Given the description of an element on the screen output the (x, y) to click on. 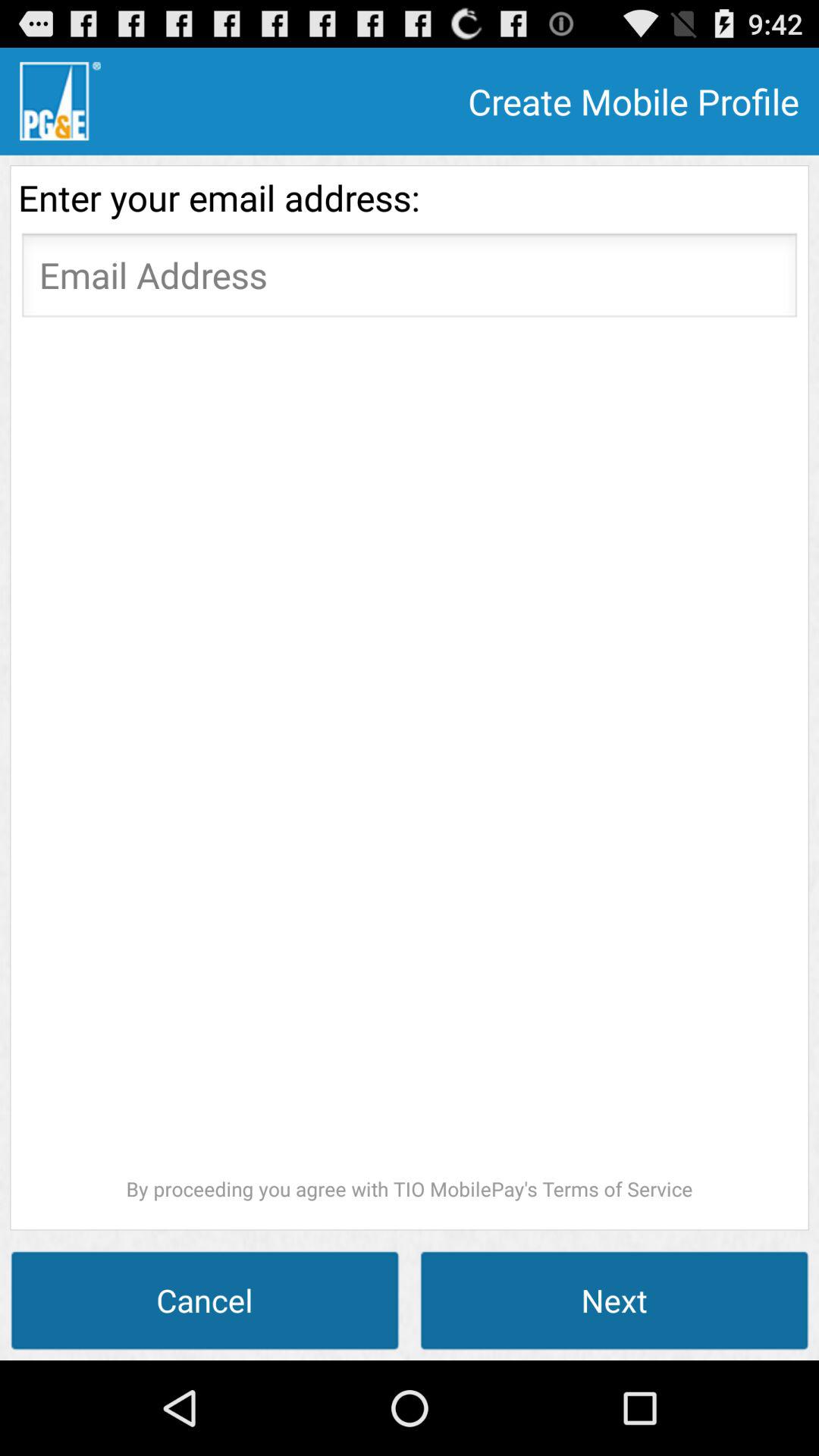
choose the next button (613, 1300)
